Given the description of an element on the screen output the (x, y) to click on. 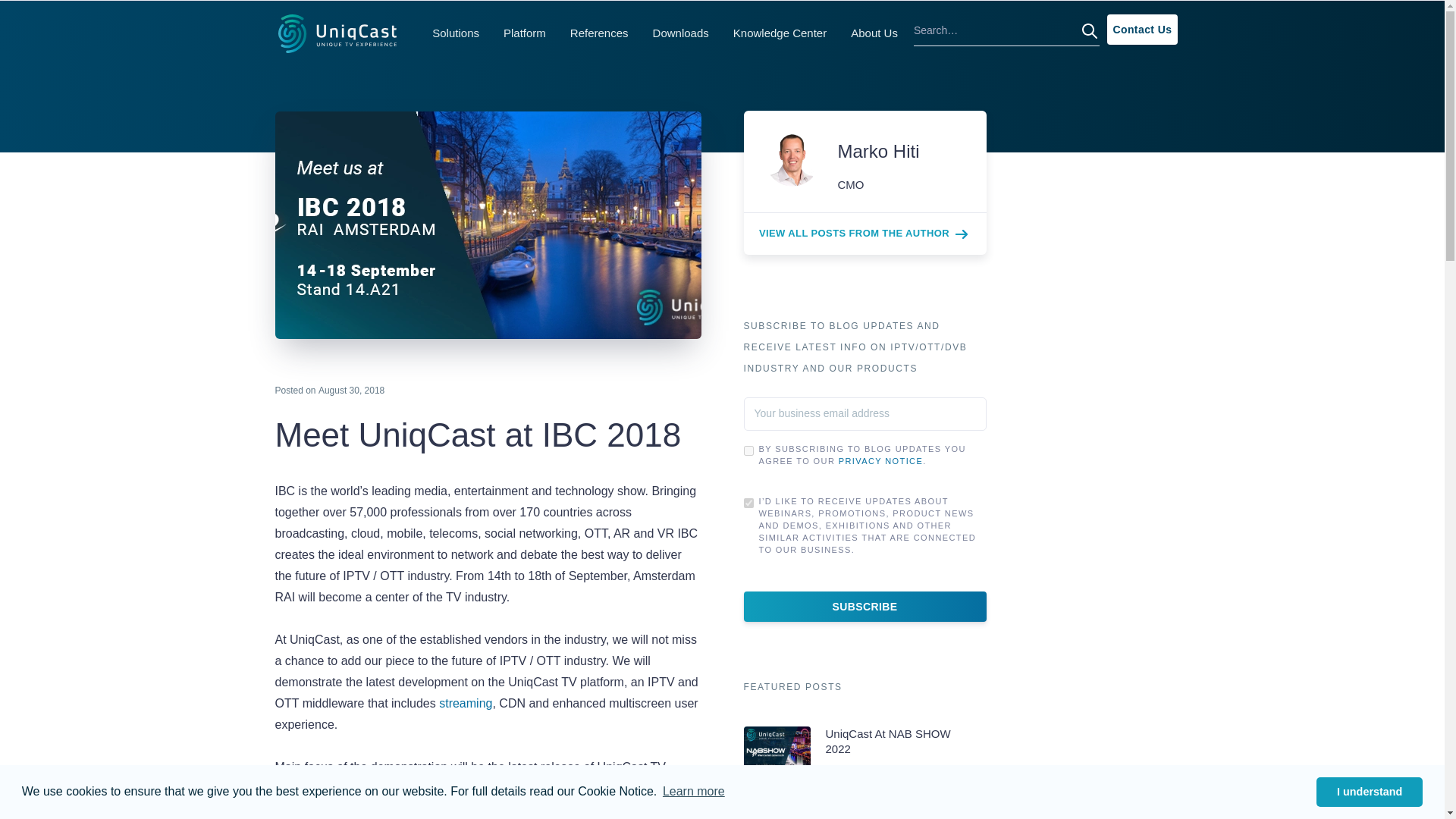
on (747, 502)
on (747, 450)
I understand (1369, 791)
Subscribe (863, 606)
Learn more (693, 791)
References (598, 33)
Contact Us (1141, 29)
streaming (465, 703)
